Given the description of an element on the screen output the (x, y) to click on. 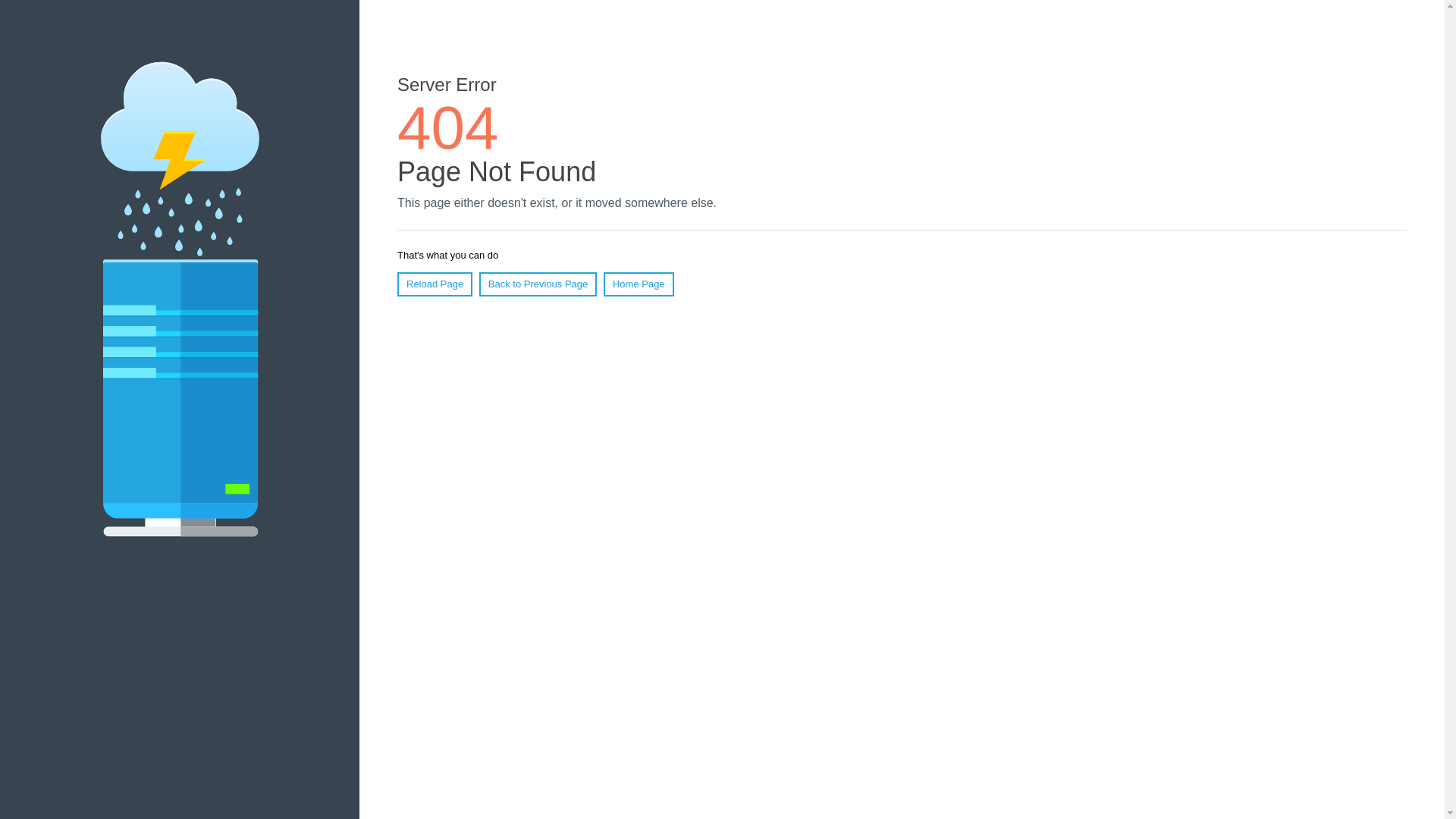
Reload Page Element type: text (434, 284)
Home Page Element type: text (638, 284)
Back to Previous Page Element type: text (538, 284)
